Given the description of an element on the screen output the (x, y) to click on. 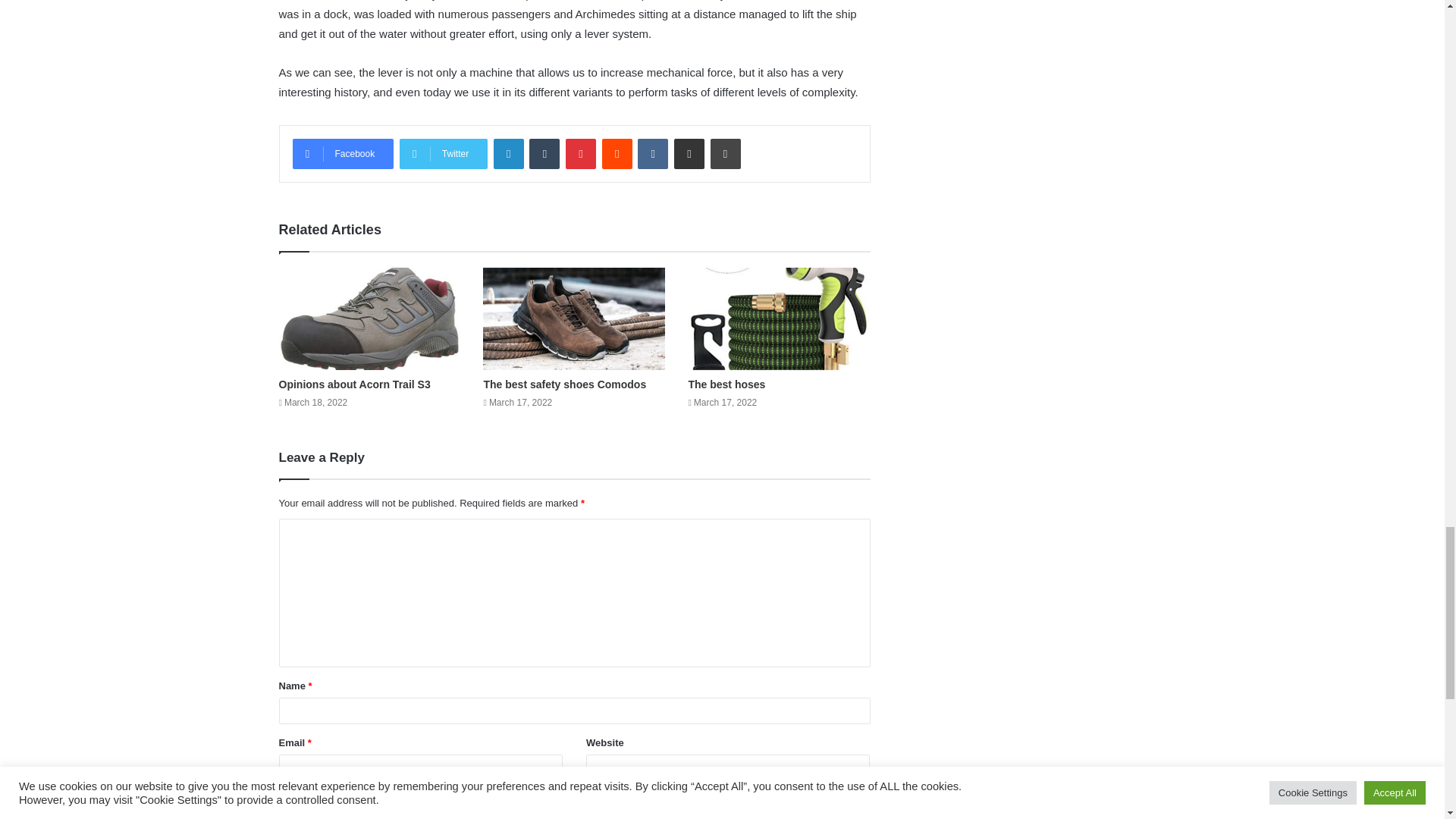
Share via Email (689, 153)
LinkedIn (508, 153)
Twitter (442, 153)
Tumblr (544, 153)
LinkedIn (508, 153)
Share via Email (689, 153)
VKontakte (652, 153)
Opinions about Acorn Trail S3 (354, 384)
Reddit (616, 153)
VKontakte (652, 153)
Pinterest (580, 153)
Twitter (442, 153)
Tumblr (544, 153)
Facebook (343, 153)
yes (283, 798)
